Given the description of an element on the screen output the (x, y) to click on. 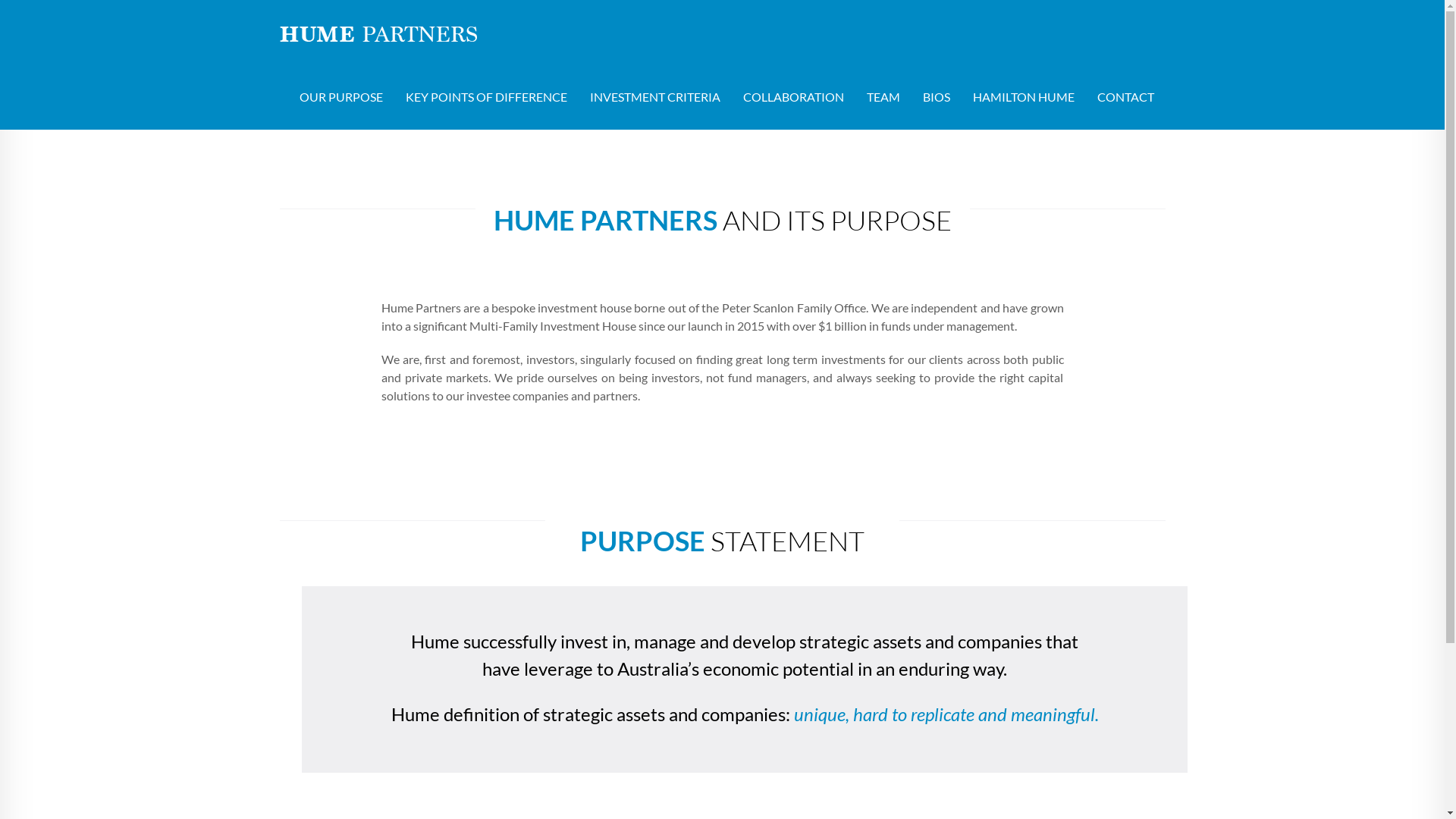
KEY POINTS OF DIFFERENCE Element type: text (486, 96)
COLLABORATION Element type: text (792, 96)
TEAM Element type: text (883, 96)
OUR PURPOSE Element type: text (341, 96)
BIOS Element type: text (936, 96)
INVESTMENT CRITERIA Element type: text (654, 96)
CONTACT Element type: text (1125, 96)
HAMILTON HUME Element type: text (1023, 96)
